Given the description of an element on the screen output the (x, y) to click on. 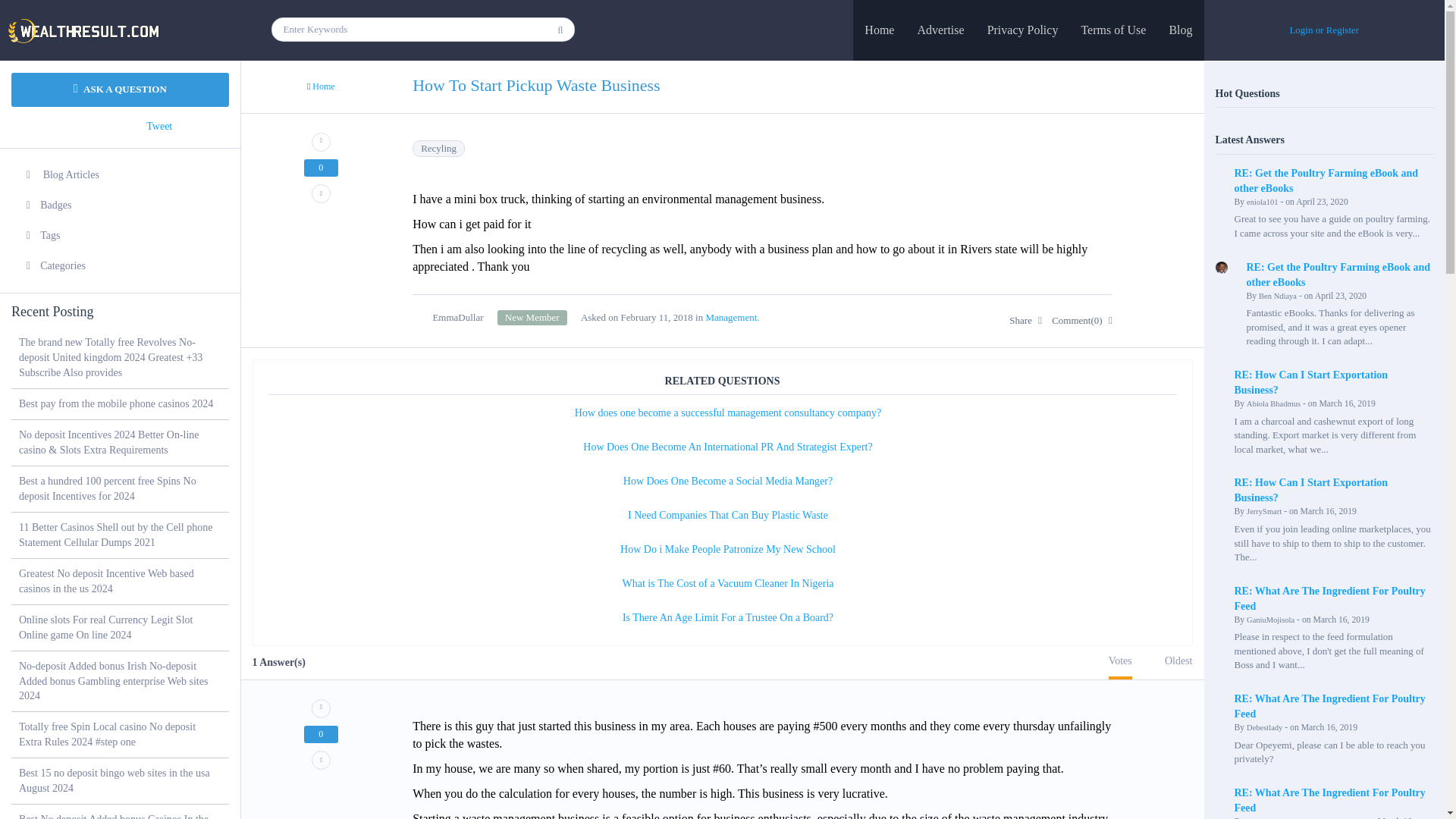
This is useful. (320, 708)
This is useful. (320, 141)
This is not useful (320, 193)
1 (532, 317)
This is not useful (320, 760)
